Given the description of an element on the screen output the (x, y) to click on. 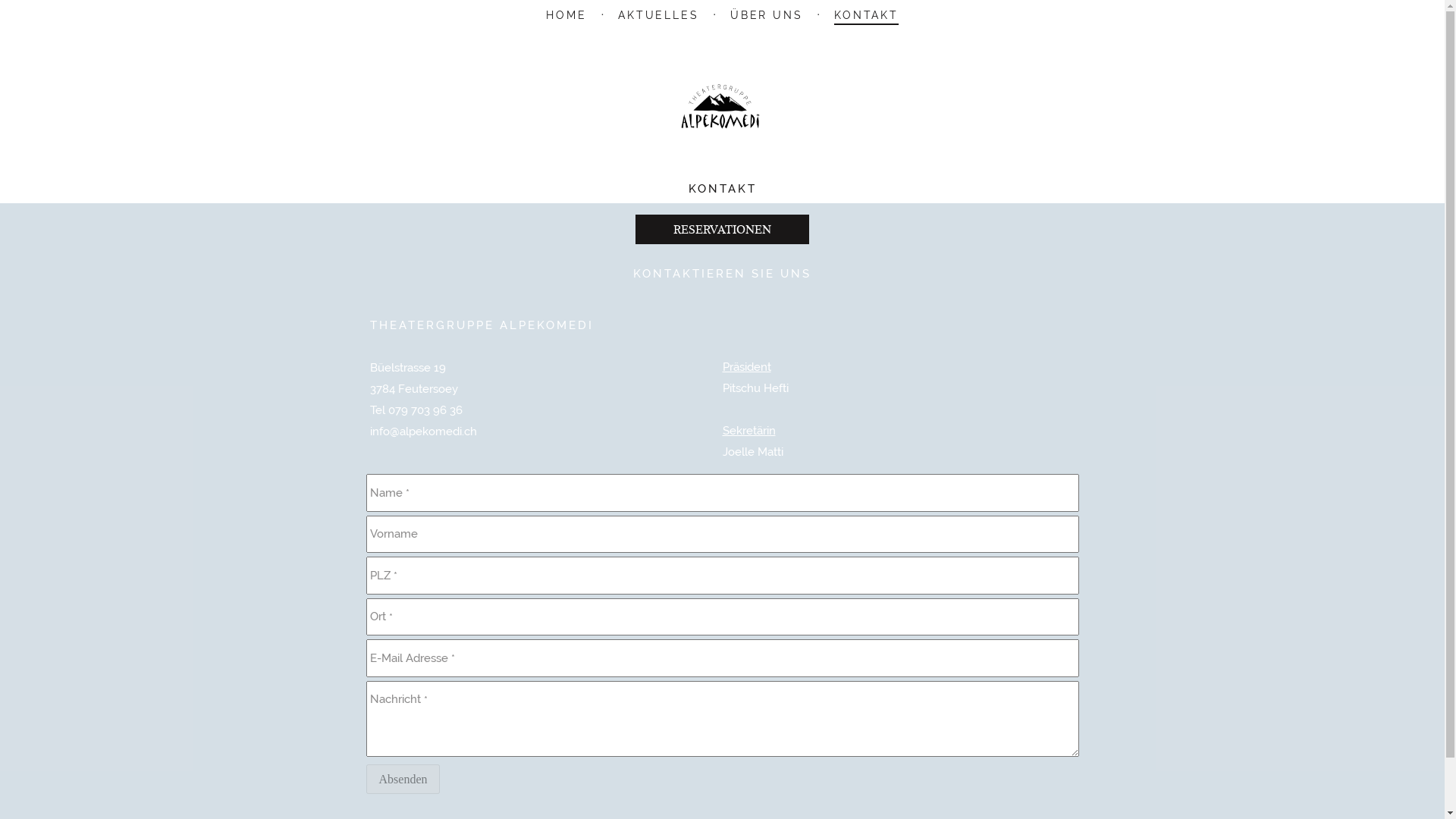
HOME Element type: text (566, 16)
KONTAKT Element type: text (866, 17)
AKTUELLES Element type: text (658, 16)
Absenden Element type: text (402, 778)
RESERVATIONEN Element type: text (722, 229)
